Given the description of an element on the screen output the (x, y) to click on. 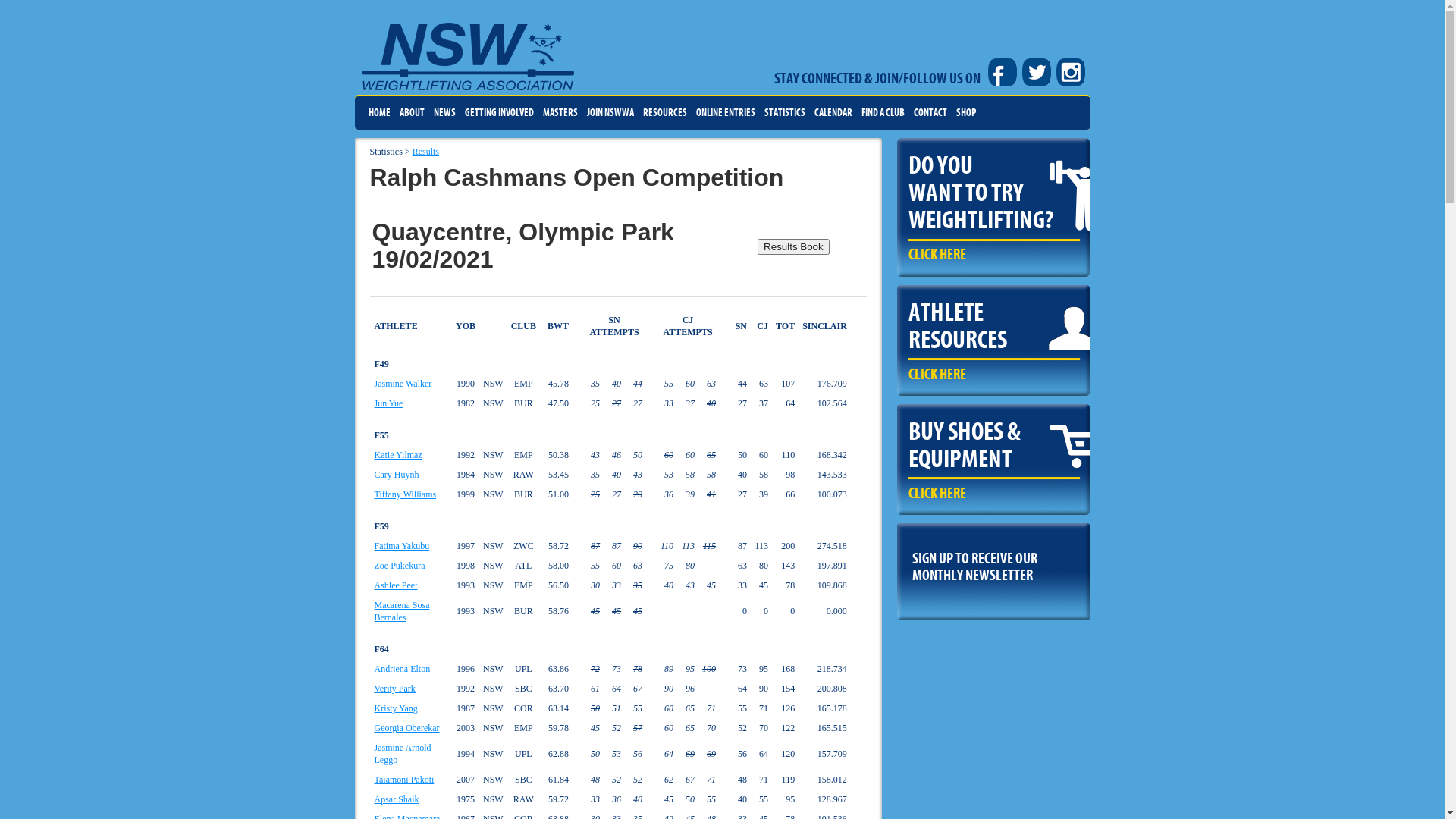
Andriena Elton Element type: text (402, 668)
MASTERS Element type: text (559, 112)
CALENDAR Element type: text (833, 112)
CLICK HERE Element type: text (937, 374)
Results Book Element type: text (793, 246)
Print full results book in PDF format Element type: hover (793, 246)
Ashlee Peet Element type: text (395, 585)
CONTACT Element type: text (929, 112)
Verity Park Element type: text (394, 688)
HOME Element type: text (379, 112)
Cary Huynh Element type: text (396, 474)
GETTING INVOLVED Element type: text (498, 112)
Jun Yue Element type: text (388, 403)
SIGN UP TO RECEIVE OUR MONTHLY NEWSLETTER Element type: text (992, 563)
Apsar Shaik Element type: text (396, 798)
Kristy Yang Element type: text (395, 707)
Fatima Yakubu Element type: text (401, 545)
ABOUT Element type: text (410, 112)
Katie Yilmaz Element type: text (398, 454)
NEWS Element type: text (444, 112)
Tiffany Williams Element type: text (405, 494)
Jasmine Walker Element type: text (403, 383)
Zoe Pukekura Element type: text (399, 565)
Results Element type: text (425, 151)
RESOURCES Element type: text (665, 112)
Georgia Oberekar Element type: text (406, 727)
ONLINE ENTRIES Element type: text (725, 112)
SHOP Element type: text (965, 112)
Jasmine Arnold Leggo Element type: text (402, 753)
FIND A CLUB Element type: text (882, 112)
Macarena Sosa Bernales Element type: text (401, 610)
JOIN NSWWA Element type: text (609, 112)
Taiamoni Pakoti Element type: text (404, 779)
CLICK HERE Element type: text (937, 493)
CLICK HERE Element type: text (937, 254)
